Given the description of an element on the screen output the (x, y) to click on. 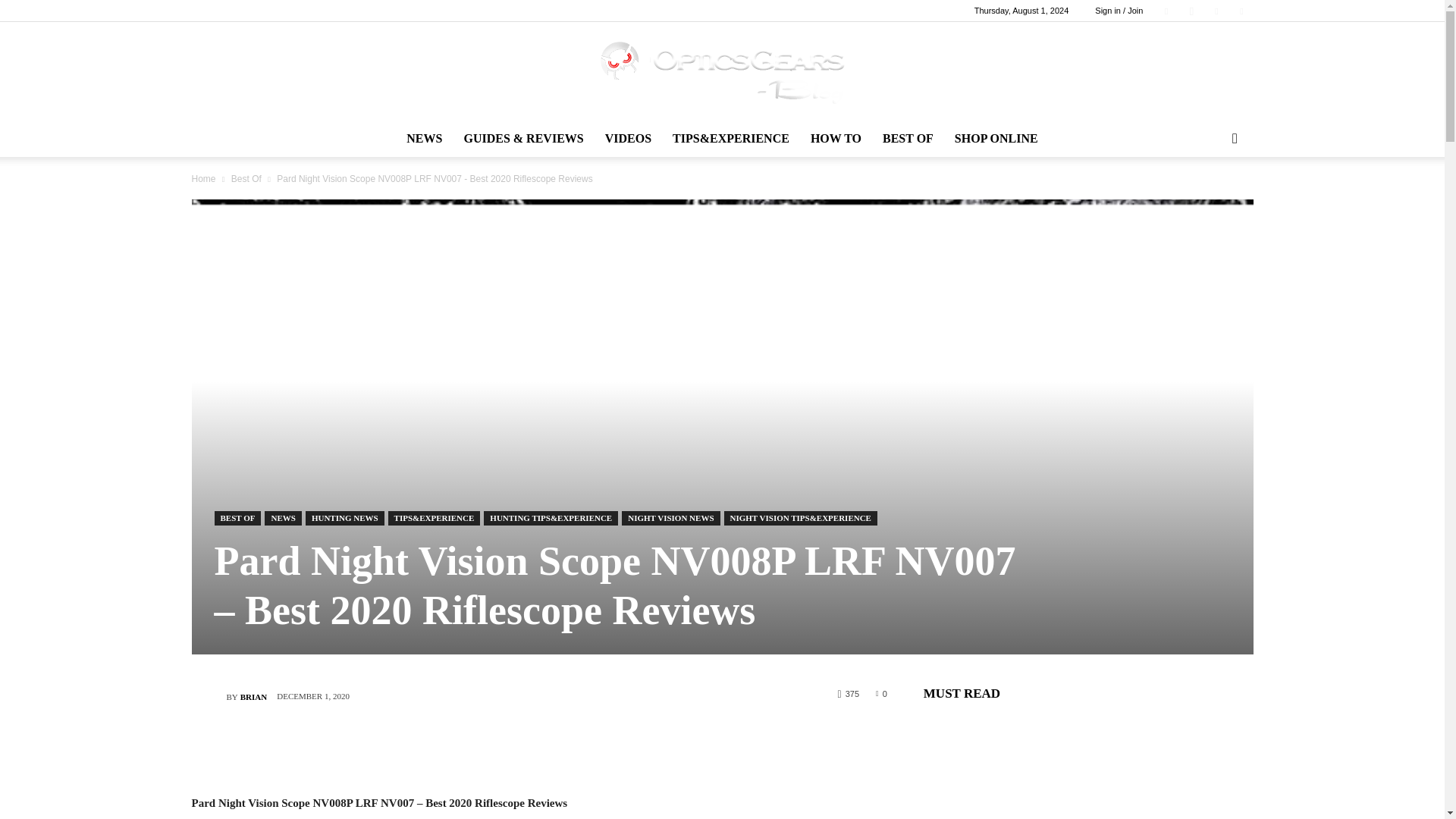
Facebook (1165, 10)
Youtube (1241, 10)
Twitter (1216, 10)
NEWS (424, 138)
Instagram (1190, 10)
